Given the description of an element on the screen output the (x, y) to click on. 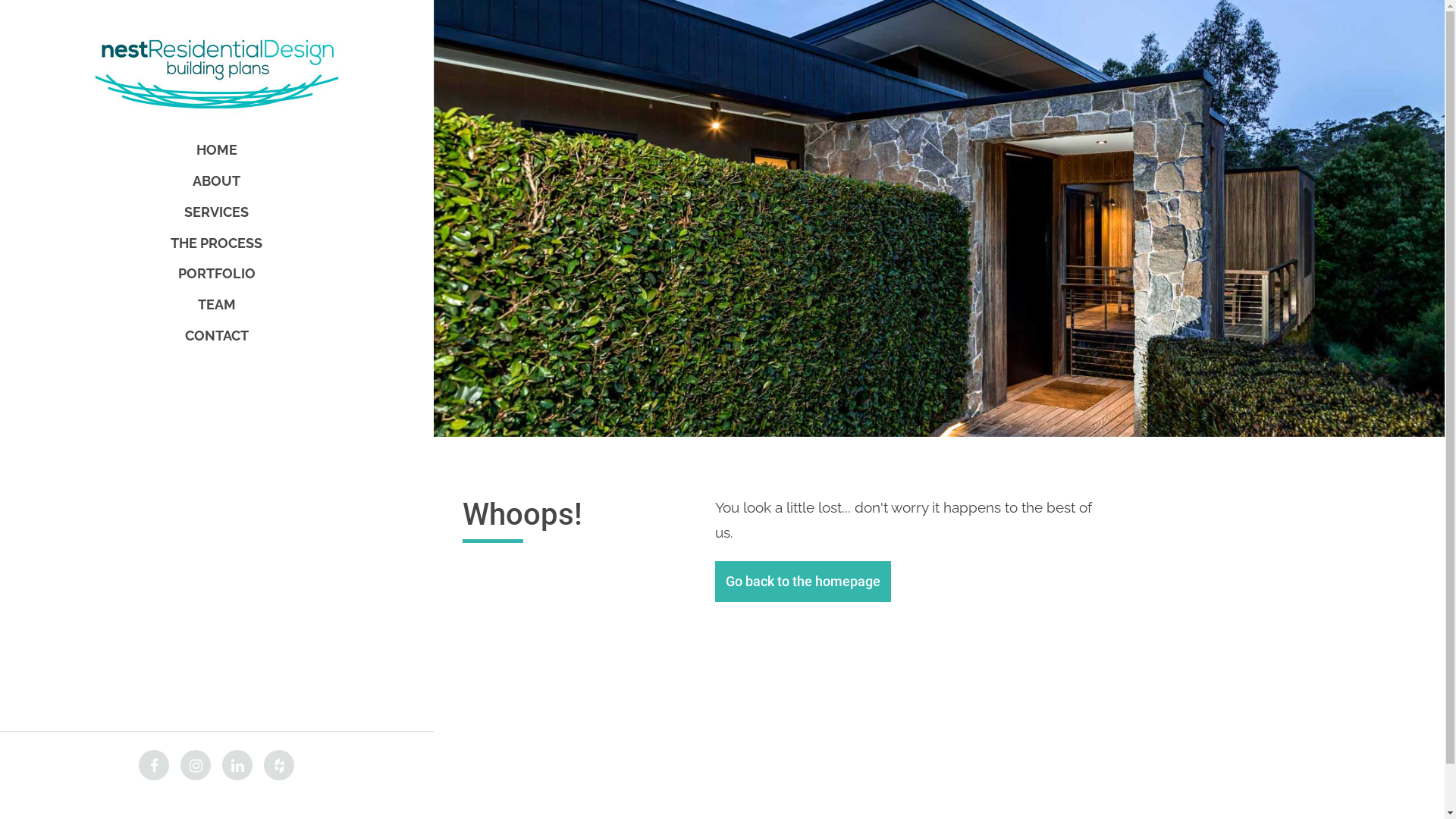
LinkedIn Element type: text (237, 764)
ABOUT Element type: text (216, 180)
Go back to the homepage Element type: text (803, 581)
Instagram Element type: text (195, 764)
PORTFOLIO Element type: text (216, 273)
CONTACT Element type: text (216, 335)
HOME Element type: text (216, 150)
TEAM Element type: text (216, 304)
Houzz Element type: text (278, 764)
SERVICES Element type: text (215, 211)
THE PROCESS Element type: text (216, 242)
Facebook Element type: text (153, 764)
